Given the description of an element on the screen output the (x, y) to click on. 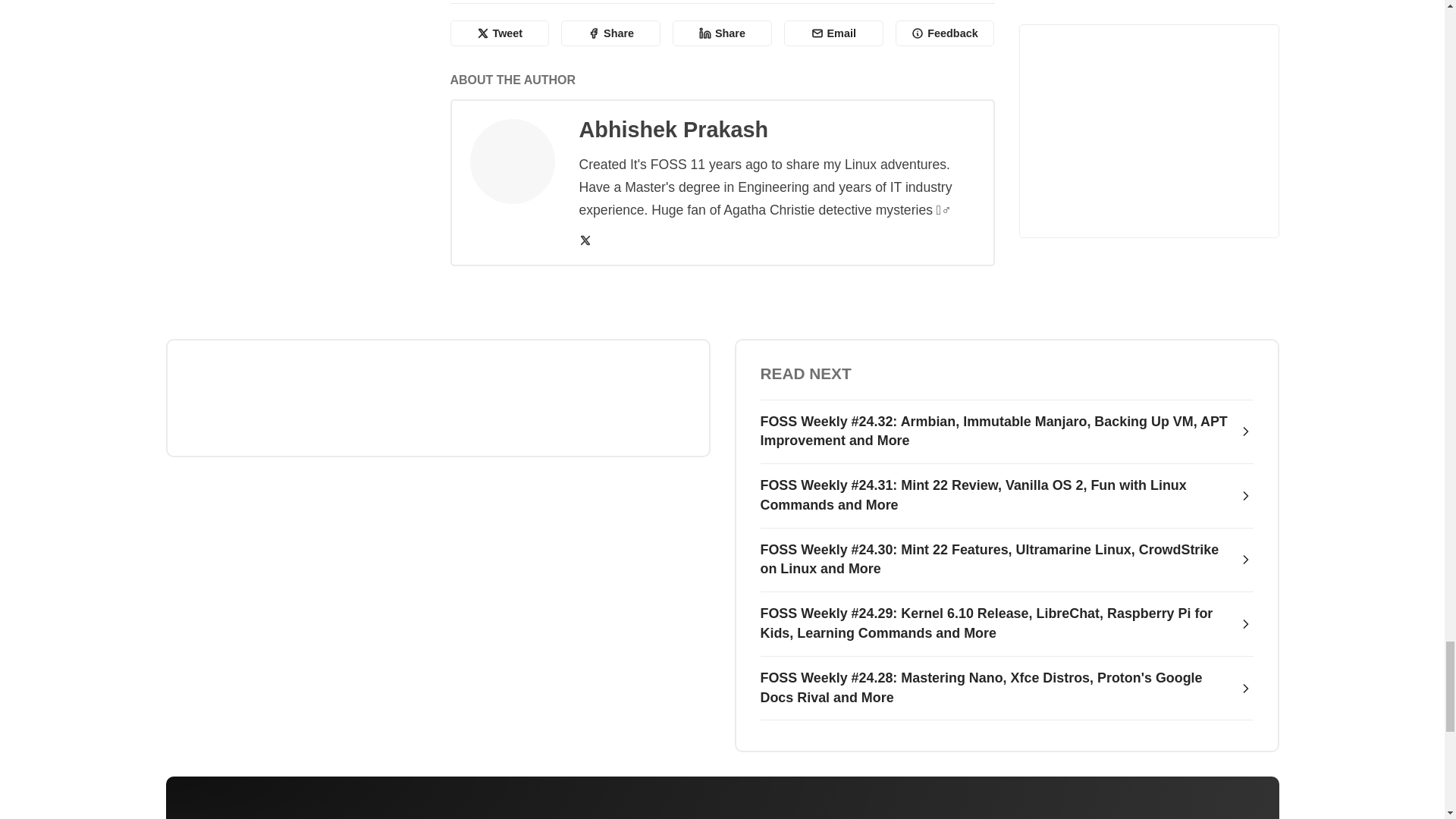
Twitter (585, 240)
Share by email (833, 32)
Share on Facebook (610, 32)
Feedback (944, 32)
Share on Twitter (499, 32)
Share on Linkedin (721, 32)
